Given the description of an element on the screen output the (x, y) to click on. 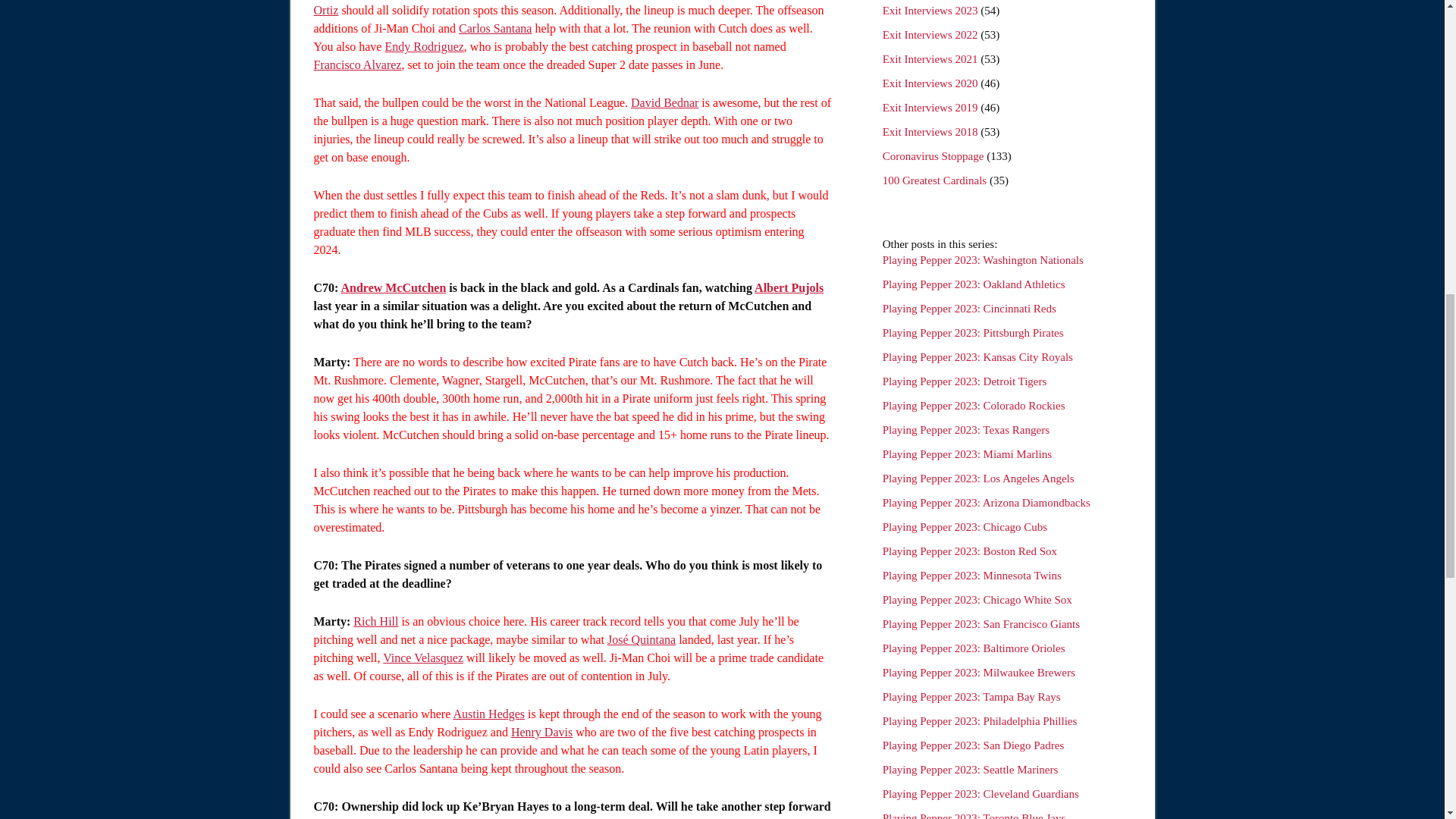
Playing Pepper 2023: Detroit Tigers (964, 381)
Playing Pepper 2023: Texas Rangers (965, 429)
Playing Pepper 2023: Miami Marlins (966, 453)
Playing Pepper 2023: Oakland Athletics (973, 284)
Playing Pepper 2023: Cincinnati Reds (969, 308)
Playing Pepper 2023: Kansas City Royals (977, 357)
Playing Pepper 2023: Colorado Rockies (973, 405)
Playing Pepper 2023: Washington Nationals (982, 259)
Playing Pepper 2023: Pittsburgh Pirates (973, 332)
